Given the description of an element on the screen output the (x, y) to click on. 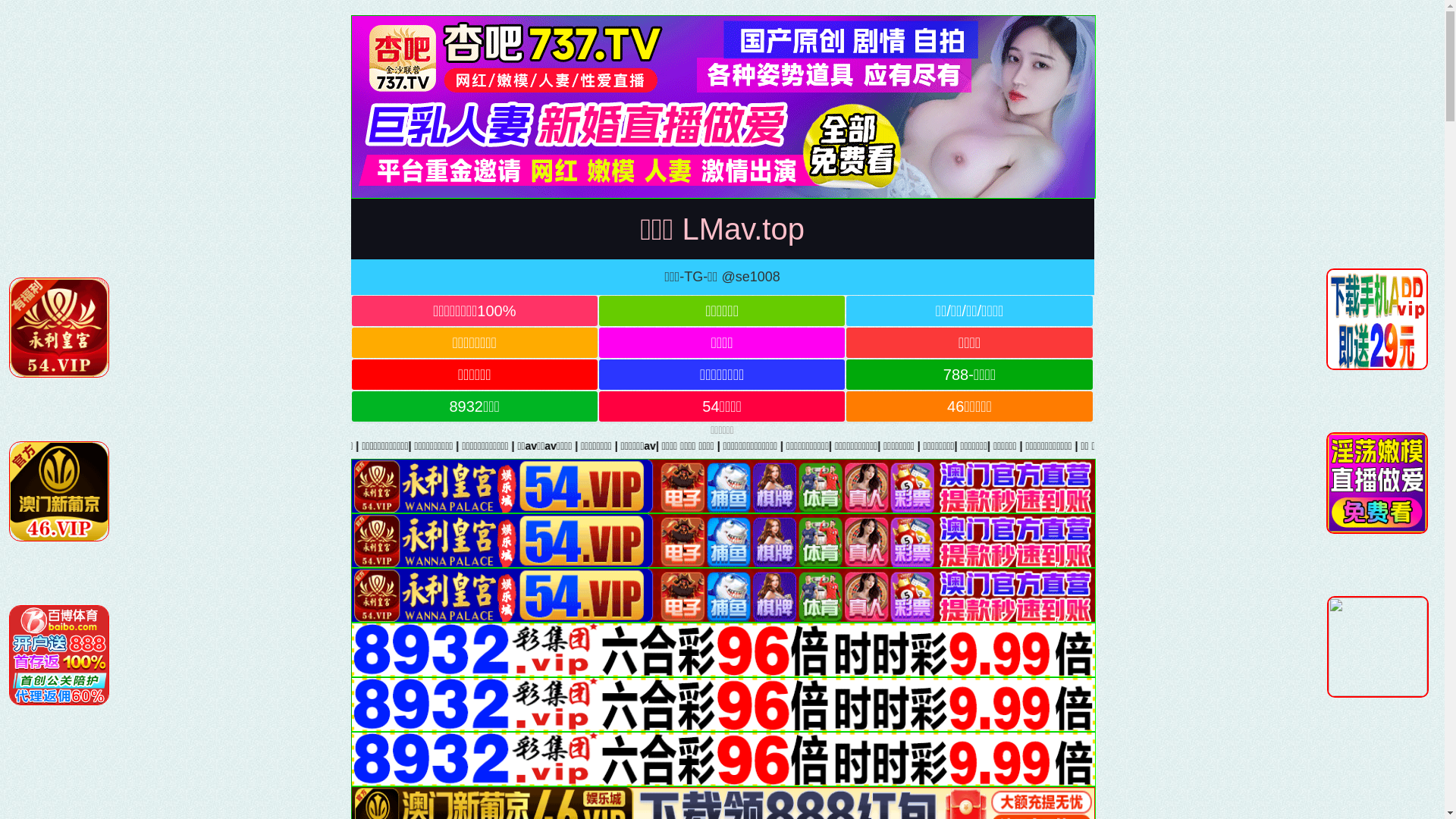
| Element type: text (523, 445)
| Element type: text (1228, 445)
| Element type: text (702, 445)
| Element type: text (496, 445)
| Element type: text (1068, 445)
| Element type: text (565, 445)
| Element type: text (1395, 445)
| Element type: text (870, 445)
| Element type: text (1360, 445)
| Element type: text (1167, 445)
| Element type: text (916, 445)
| Element type: text (968, 445)
| Element type: text (1275, 445)
| Element type: text (769, 445)
| Element type: text (659, 445)
| Element type: text (1108, 445)
| Element type: text (1322, 445)
| Element type: text (1426, 445)
| Element type: text (1030, 445)
| Element type: text (616, 445)
| Element type: text (819, 445)
